Given the description of an element on the screen output the (x, y) to click on. 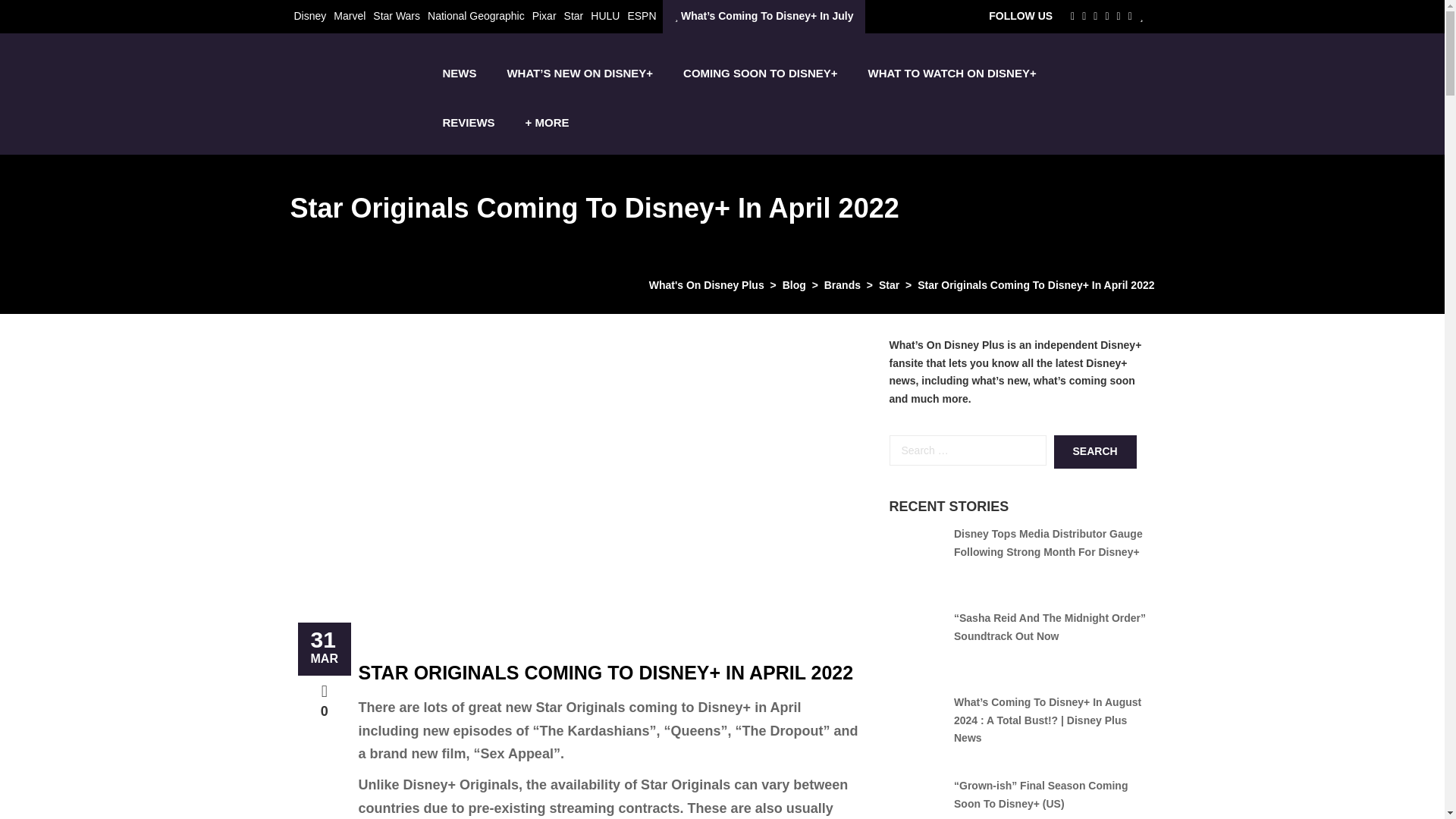
Search (1095, 451)
Go to What's On Disney Plus. (706, 285)
Disney (310, 15)
NEWS (459, 72)
REVIEWS (467, 122)
Go to the Brands Category archives. (842, 285)
HULU (605, 15)
Go to the Star Category archives. (889, 285)
Search (1095, 451)
Star Wars (396, 15)
ESPN (641, 15)
Star (573, 15)
National Geographic (476, 15)
Marvel (349, 15)
Go to Blog. (794, 285)
